Given the description of an element on the screen output the (x, y) to click on. 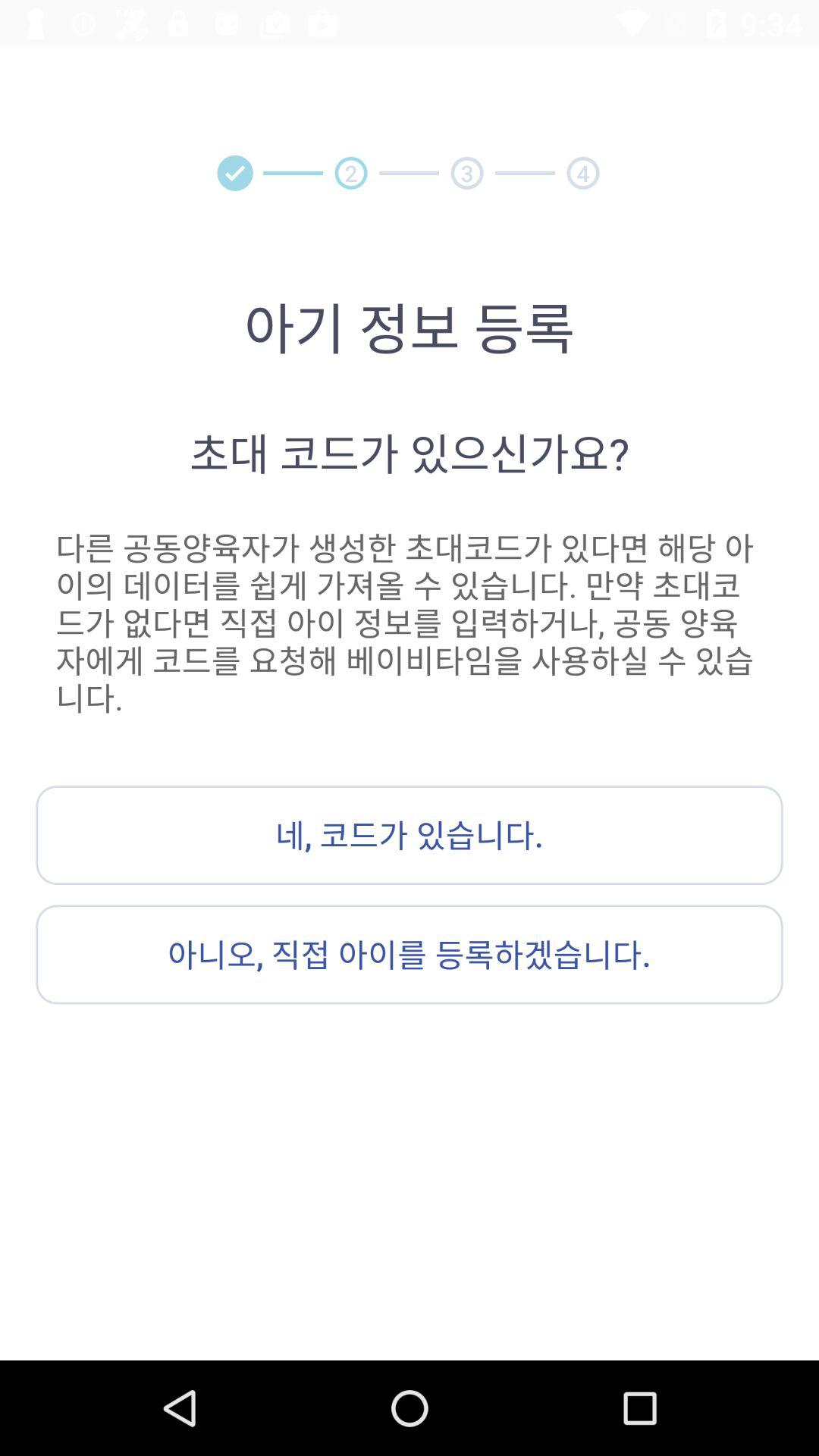
choose 4 item (583, 173)
